Given the description of an element on the screen output the (x, y) to click on. 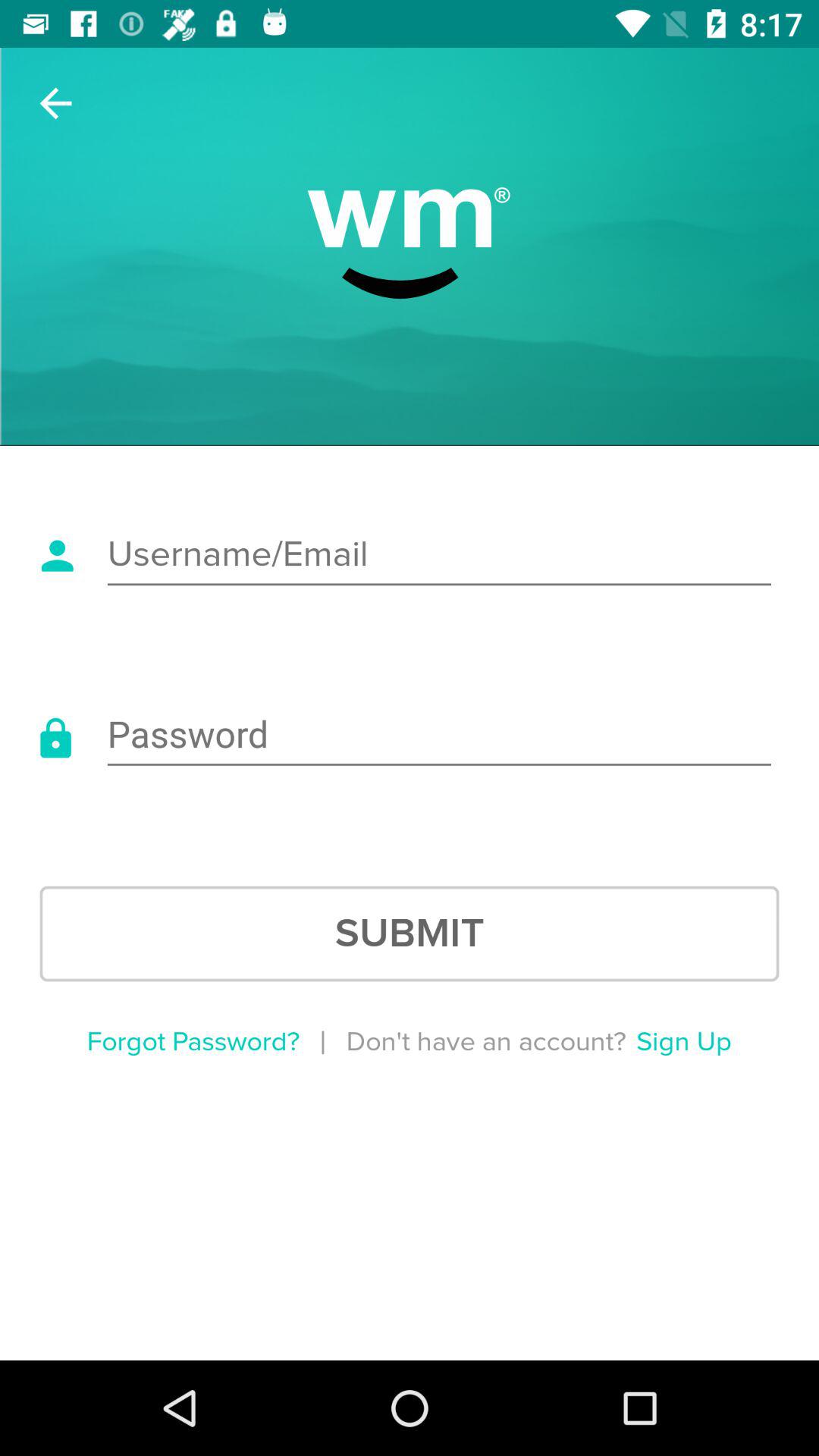
launch the icon to the left of the | item (193, 1042)
